Given the description of an element on the screen output the (x, y) to click on. 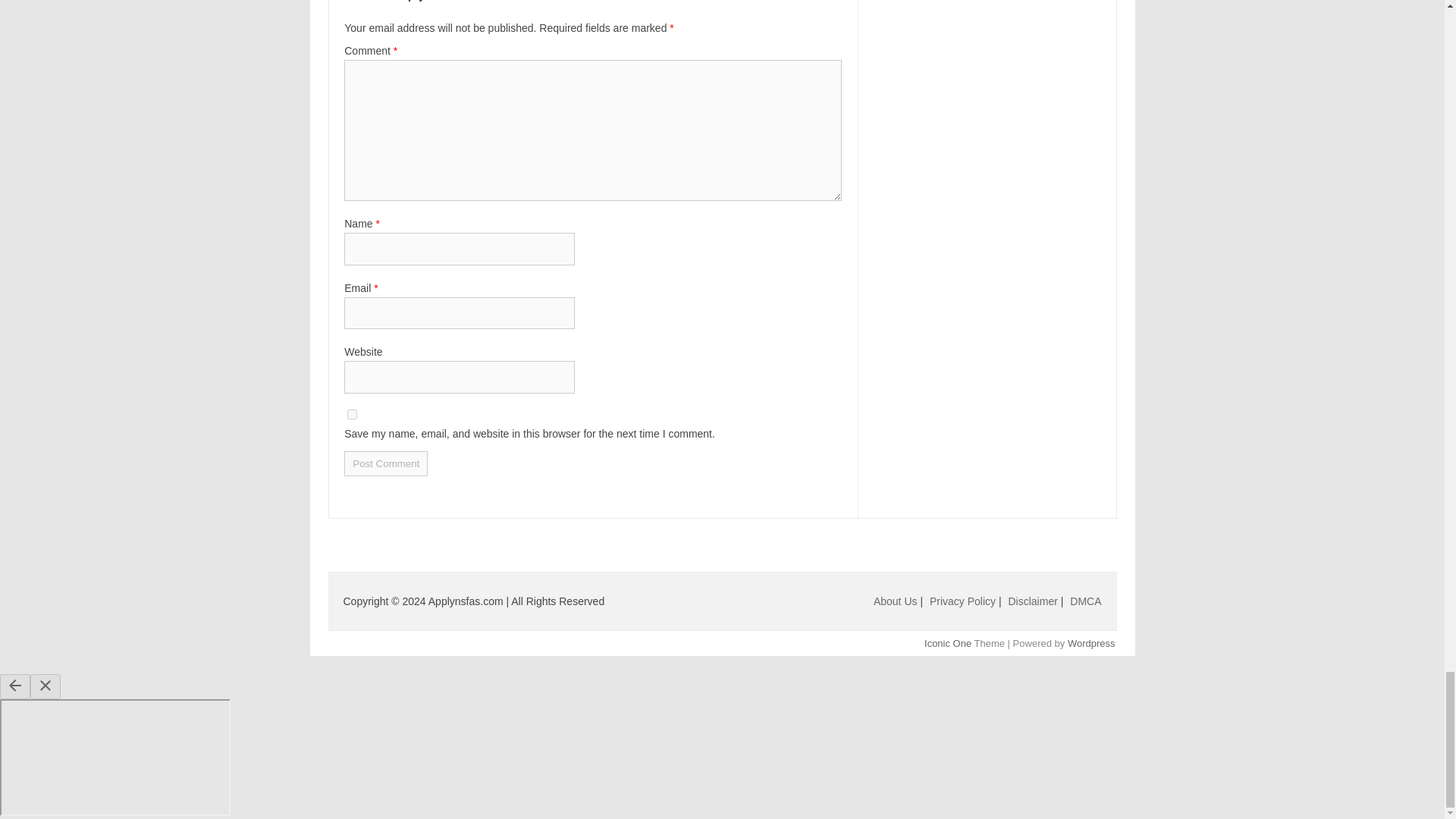
About Us (895, 601)
yes (351, 414)
Post Comment (385, 463)
Iconic One (947, 643)
Disclaimer (1035, 601)
DMCA (1085, 601)
Post Comment (385, 463)
Privacy Policy (964, 601)
